Given the description of an element on the screen output the (x, y) to click on. 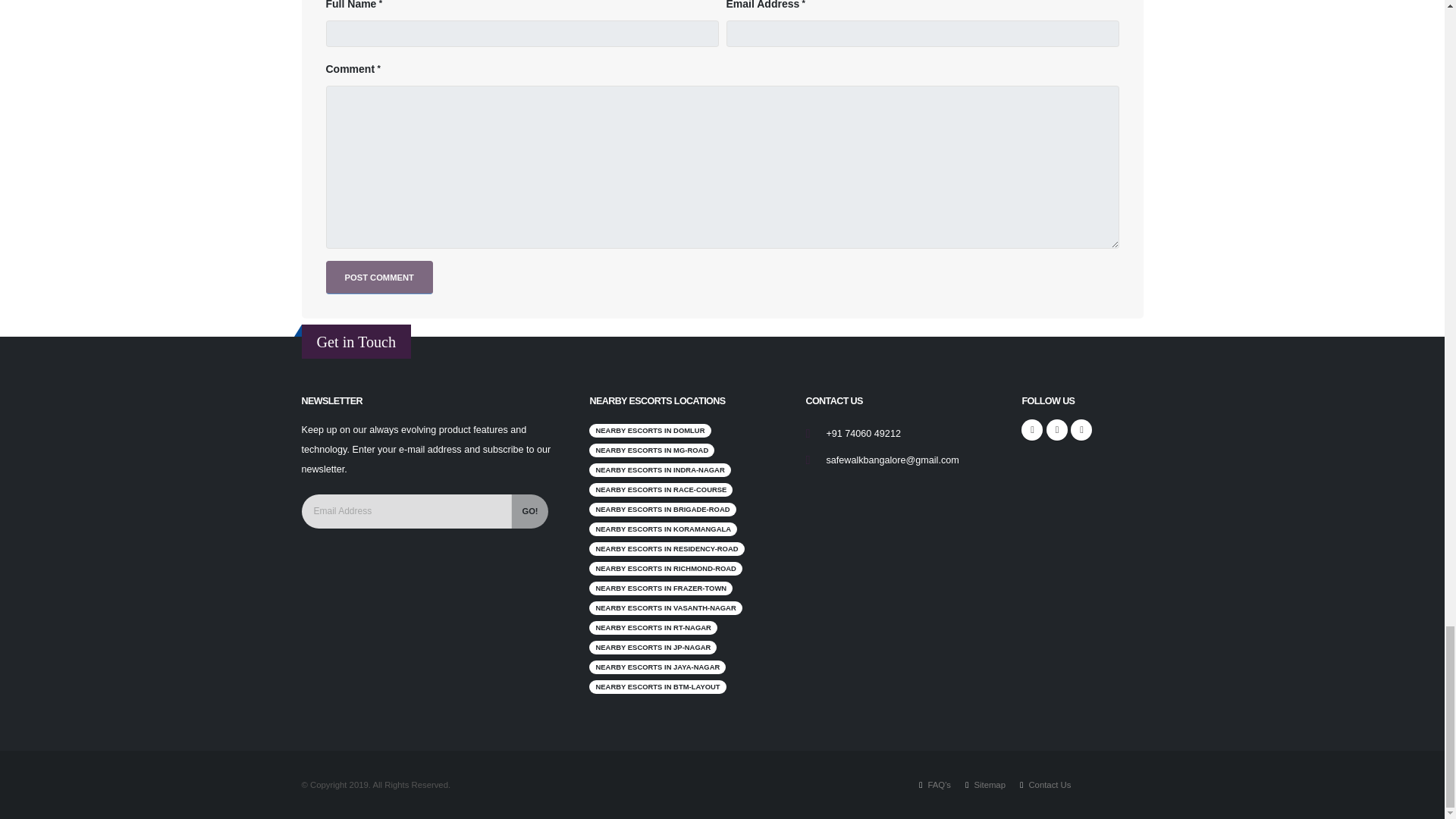
Facebook (1032, 429)
Twitter (1056, 429)
Linkedin (1081, 429)
Post Comment (379, 277)
